Given the description of an element on the screen output the (x, y) to click on. 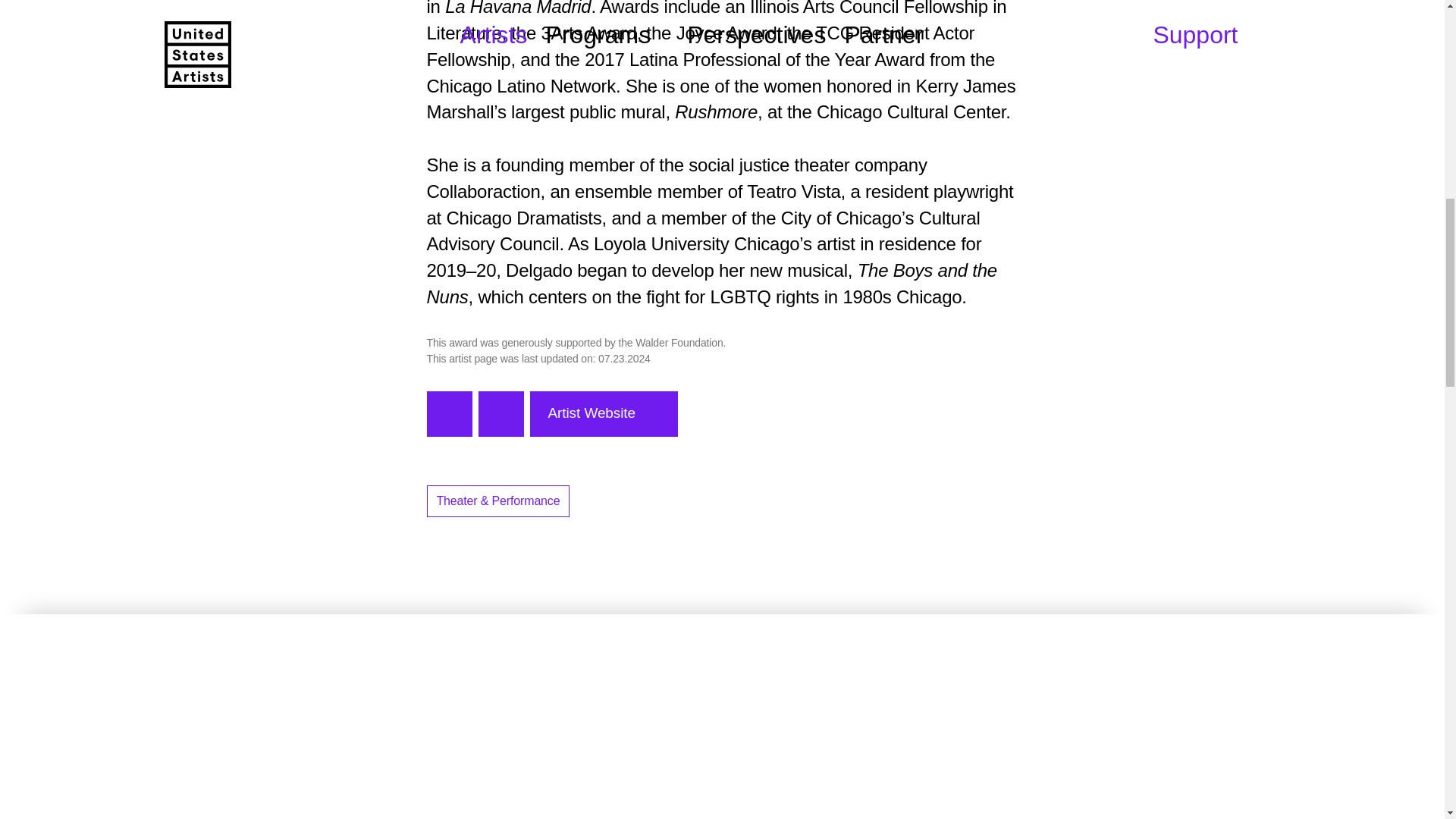
Artist Website (603, 413)
